Given the description of an element on the screen output the (x, y) to click on. 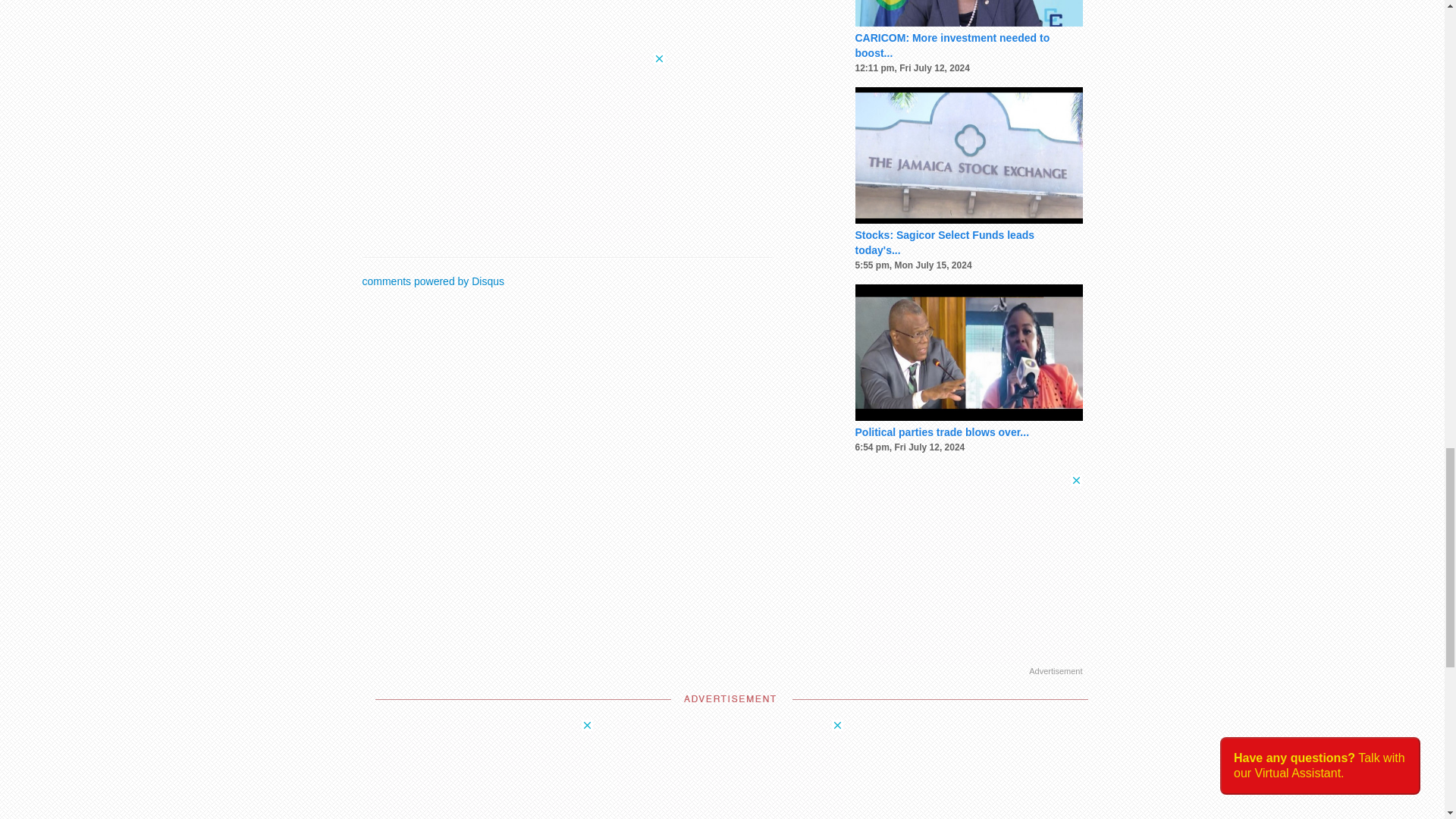
3rd party ad content (478, 769)
comments powered by Disqus (433, 281)
CARICOM: More investment needed to boost... (952, 44)
3rd party ad content (729, 769)
3rd party ad content (551, 146)
3rd party ad content (969, 568)
